Given the description of an element on the screen output the (x, y) to click on. 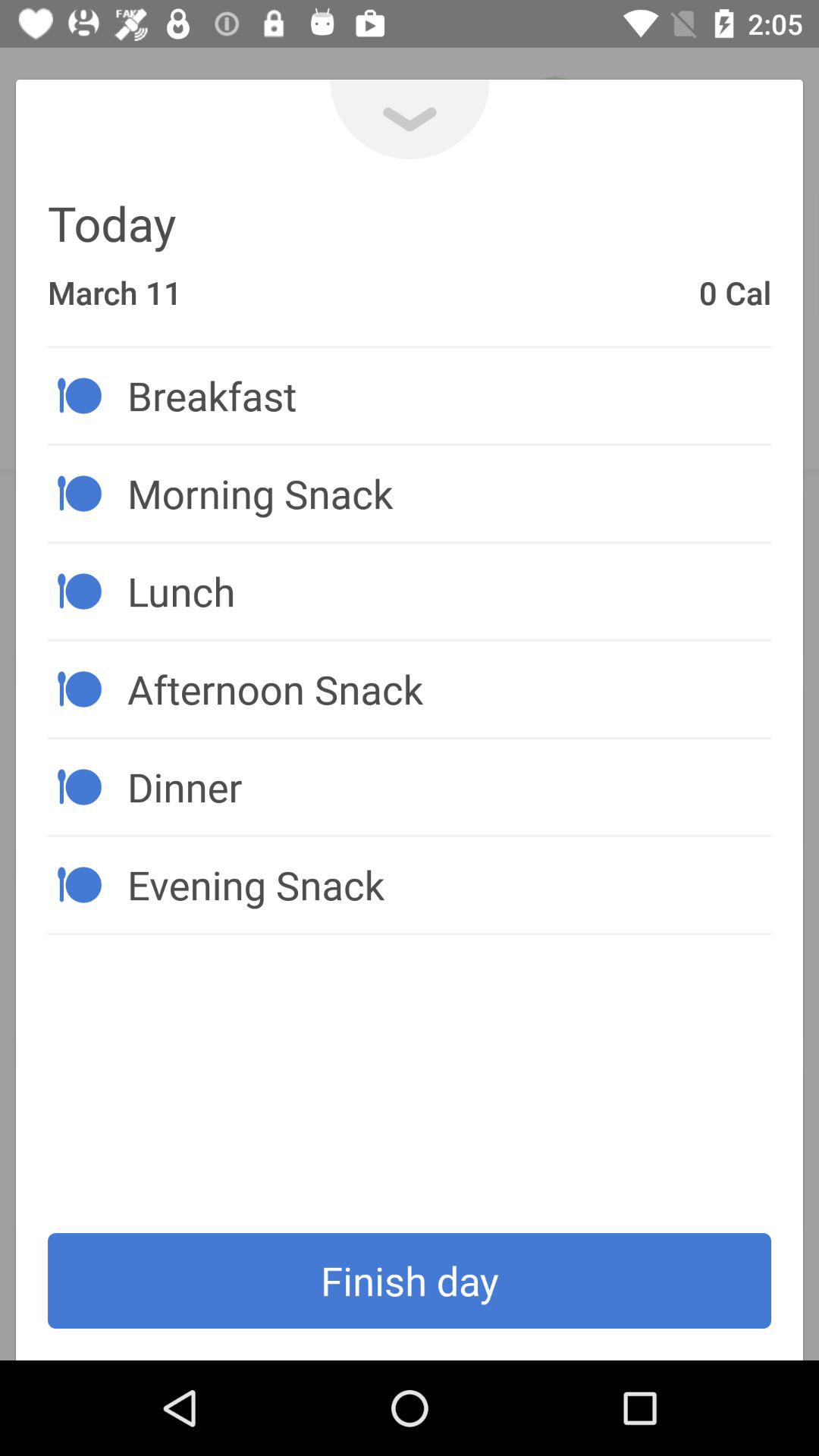
scroll until breakfast item (449, 395)
